Given the description of an element on the screen output the (x, y) to click on. 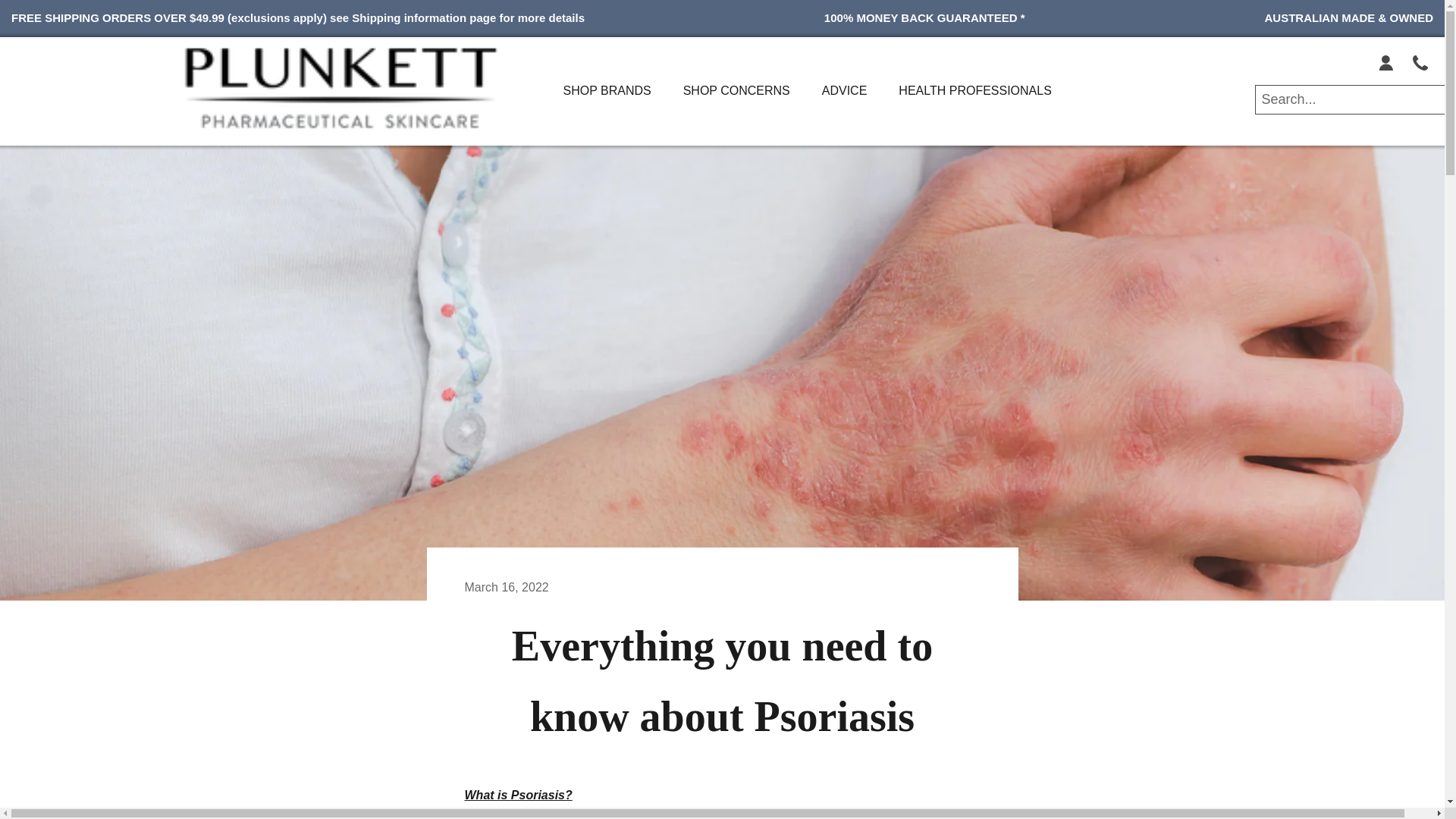
Click to open in new window (1420, 61)
